Given the description of an element on the screen output the (x, y) to click on. 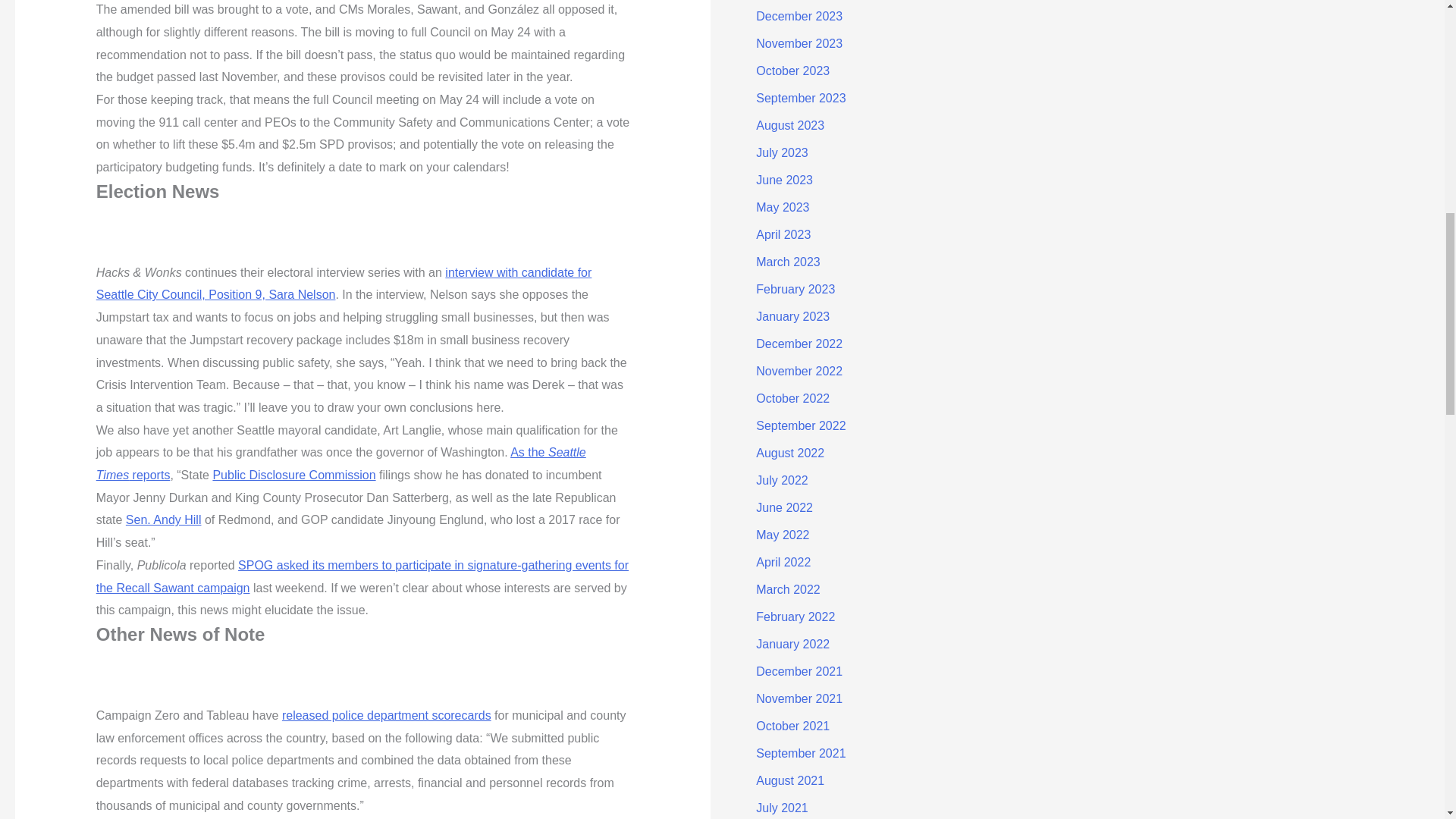
Public Disclosure Commission (293, 474)
As the Seattle Times reports (341, 463)
released police department scorecards (387, 715)
Sen. Andy Hill (163, 519)
